Given the description of an element on the screen output the (x, y) to click on. 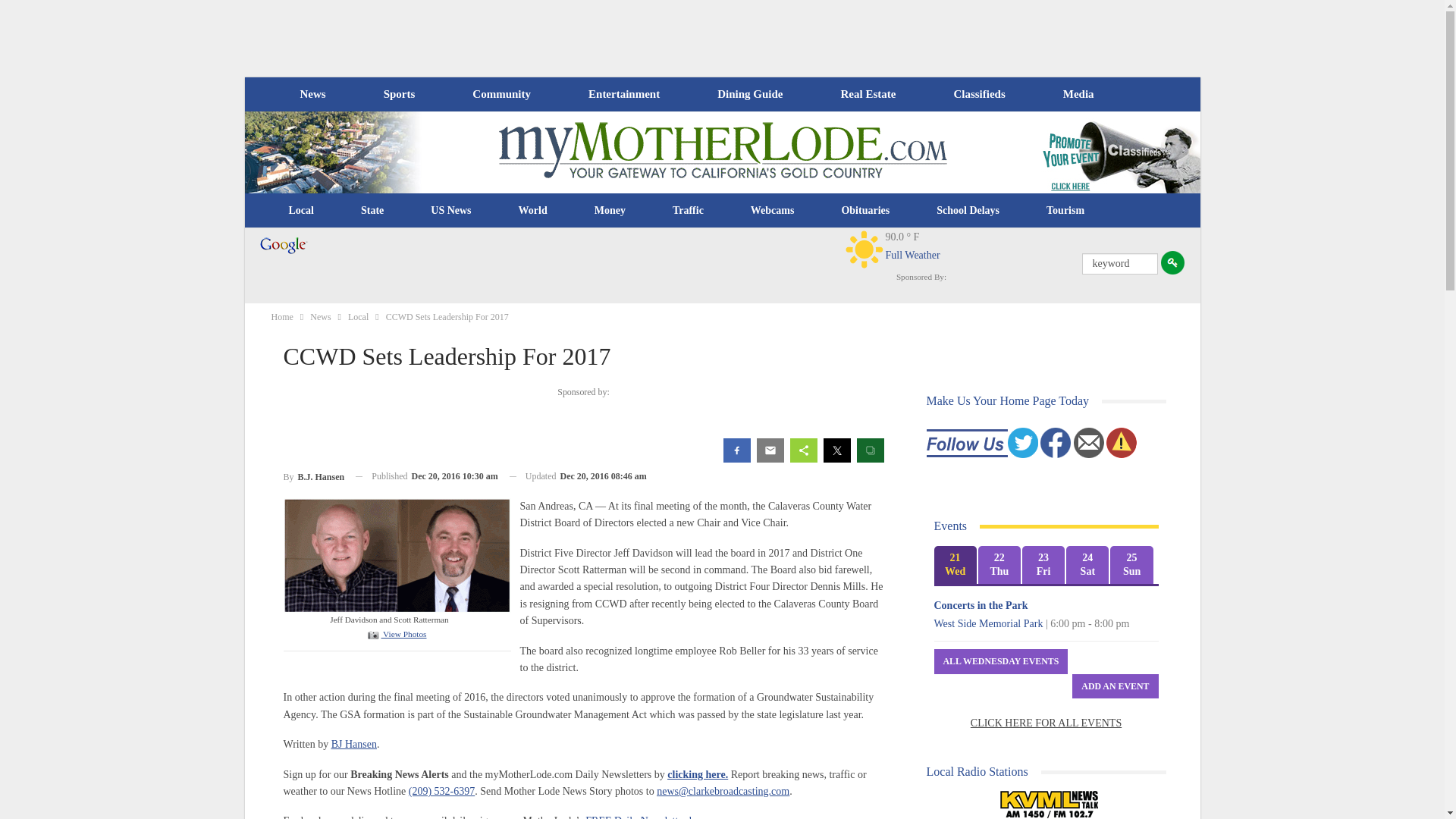
Submit (1172, 262)
Traffic (687, 210)
Clear (864, 249)
State (372, 210)
Money (609, 210)
School Delays (967, 210)
Browse Author Articles (314, 476)
